Given the description of an element on the screen output the (x, y) to click on. 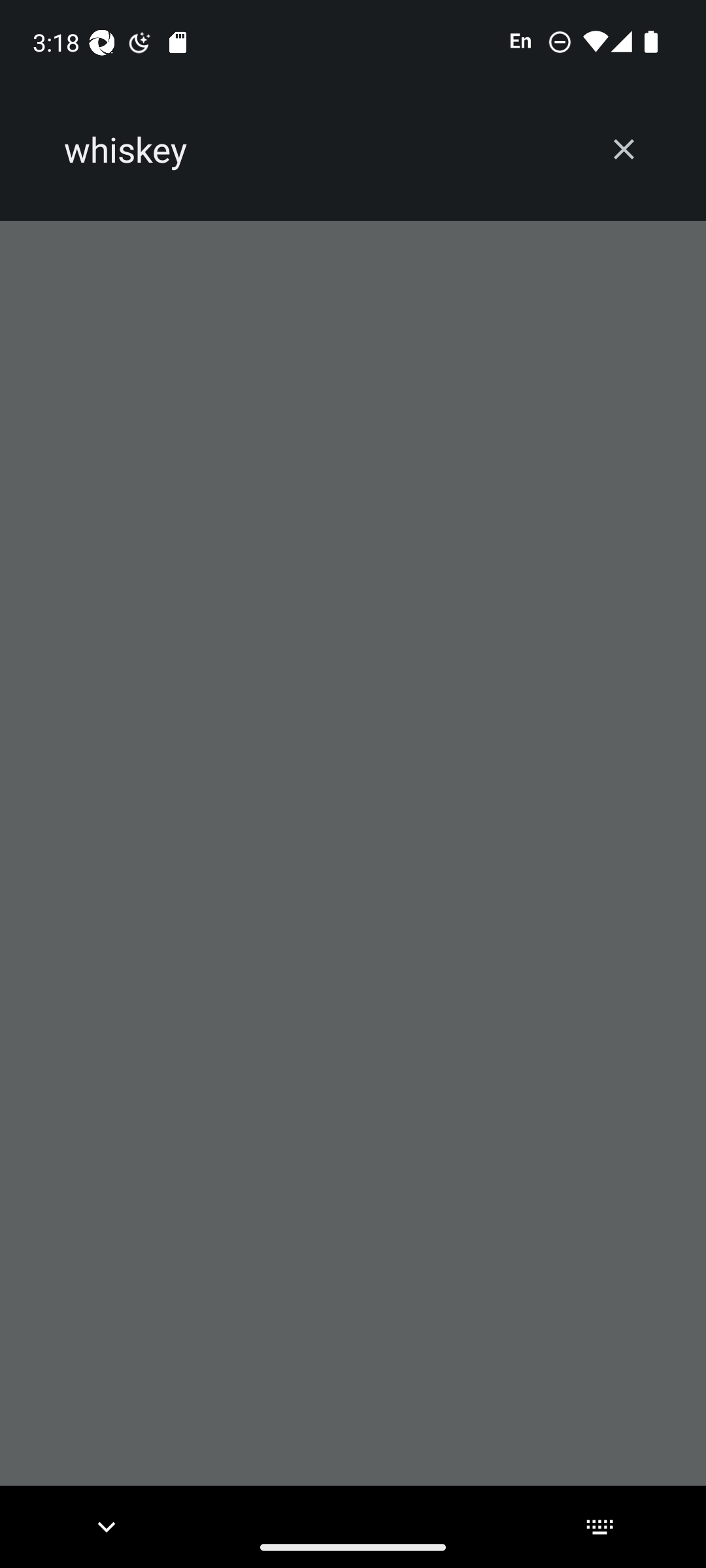
whiskey (321, 149)
Clear search box (623, 149)
